Given the description of an element on the screen output the (x, y) to click on. 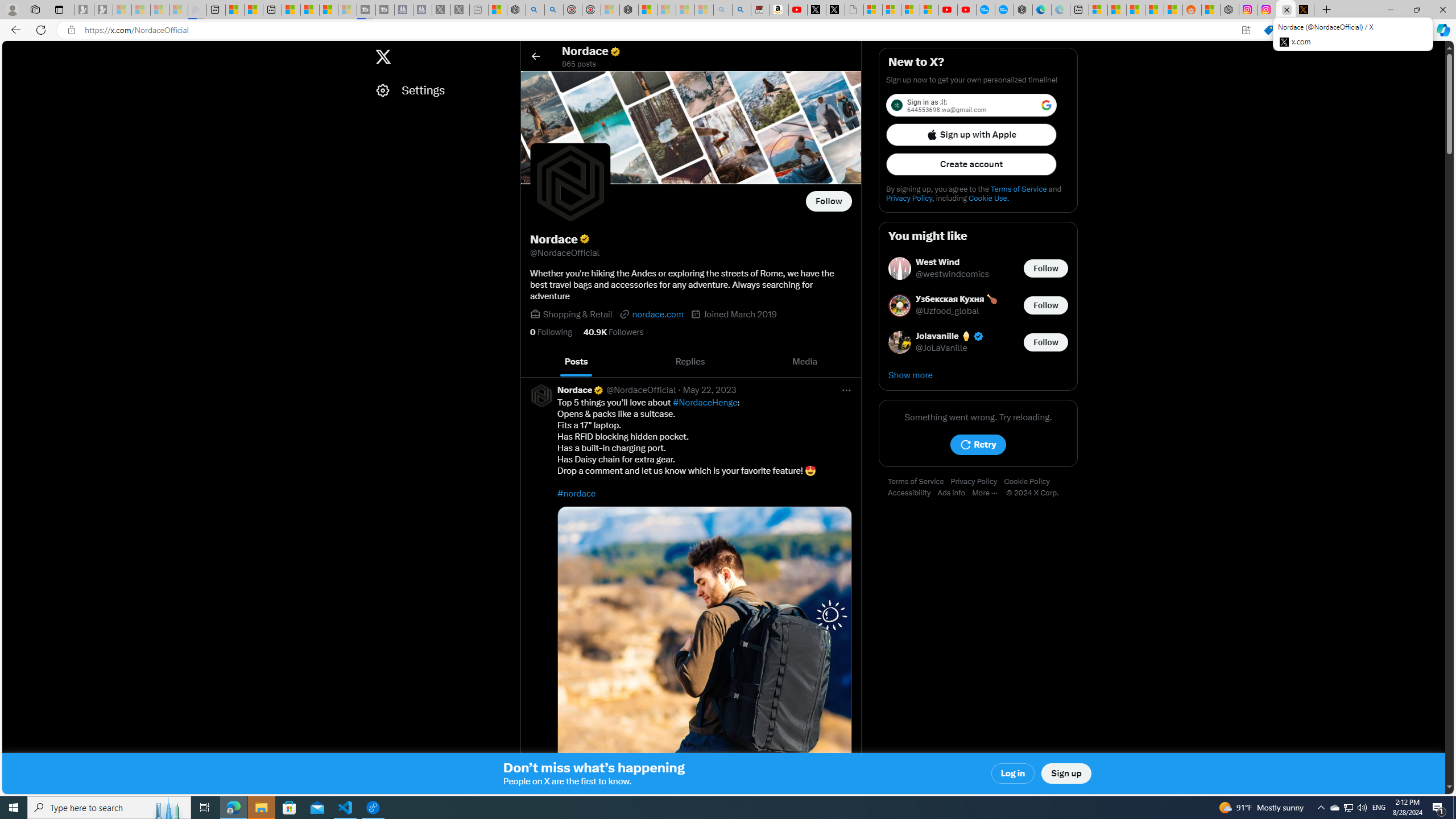
Media (804, 361)
Verified account (978, 336)
West Wind @westwindcomics Follow @westwindcomics (978, 268)
Terms of Service (919, 481)
Class: LgbsSe-Bz112c (1046, 104)
Cookie Policy (1030, 481)
Accessibility (912, 492)
Sign up with Apple (971, 134)
Nordace - Nordace has arrived Hong Kong (1022, 9)
